Given the description of an element on the screen output the (x, y) to click on. 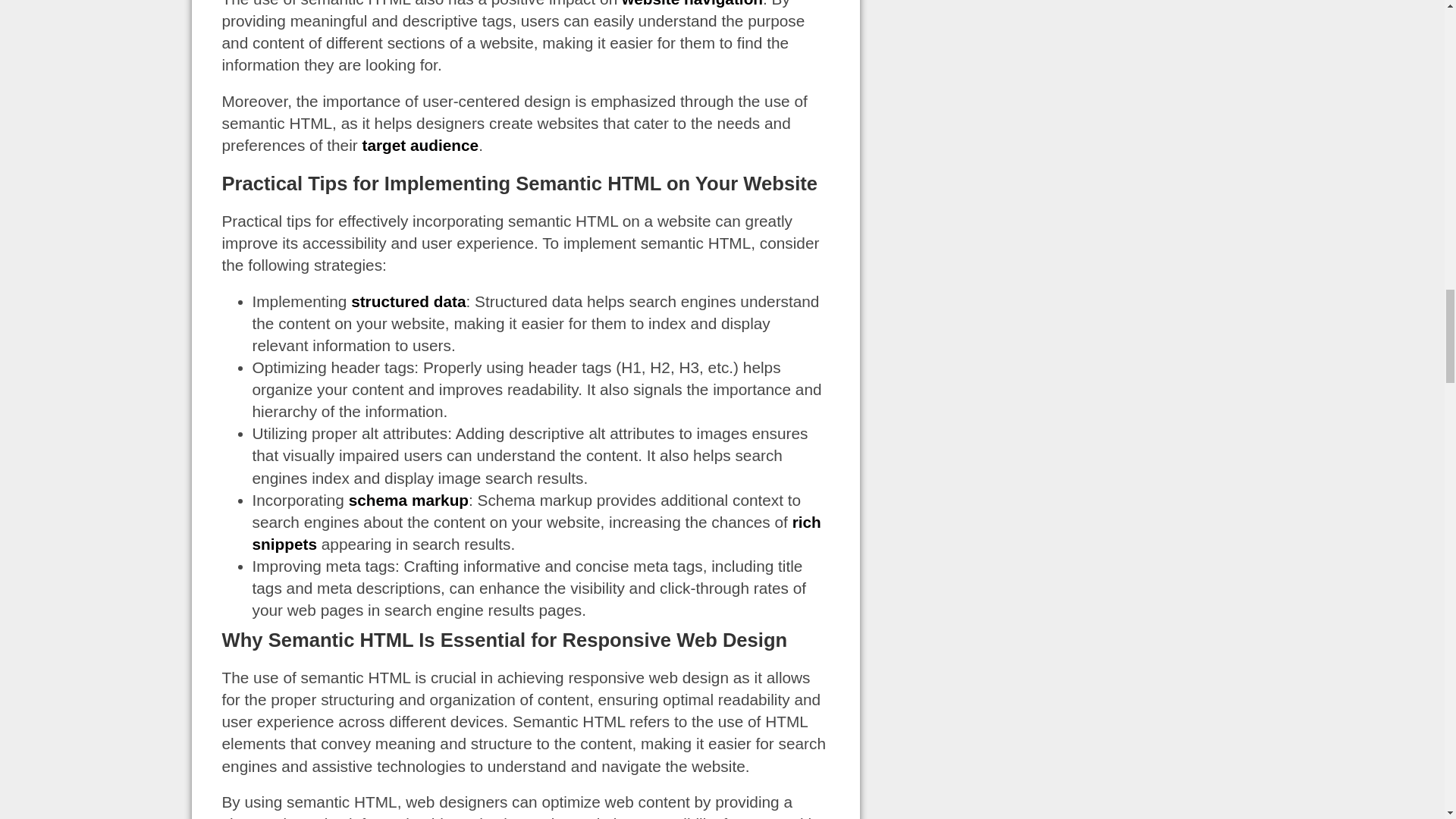
How Important Are Breadcrumbs For Websites (691, 3)
Discovering Your Target Audience For Marketing Success (420, 144)
